Given the description of an element on the screen output the (x, y) to click on. 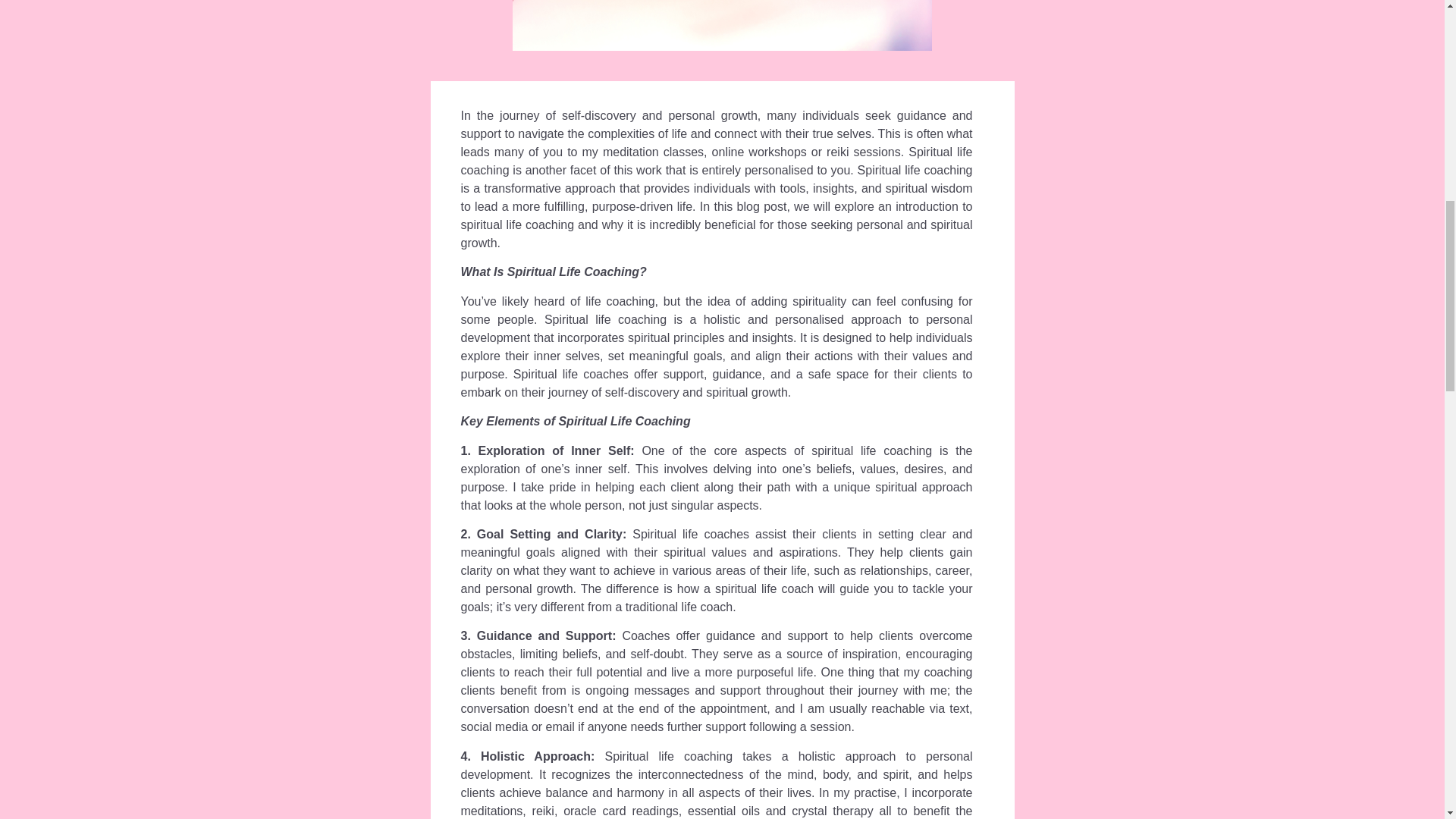
SLC (721, 25)
